Given the description of an element on the screen output the (x, y) to click on. 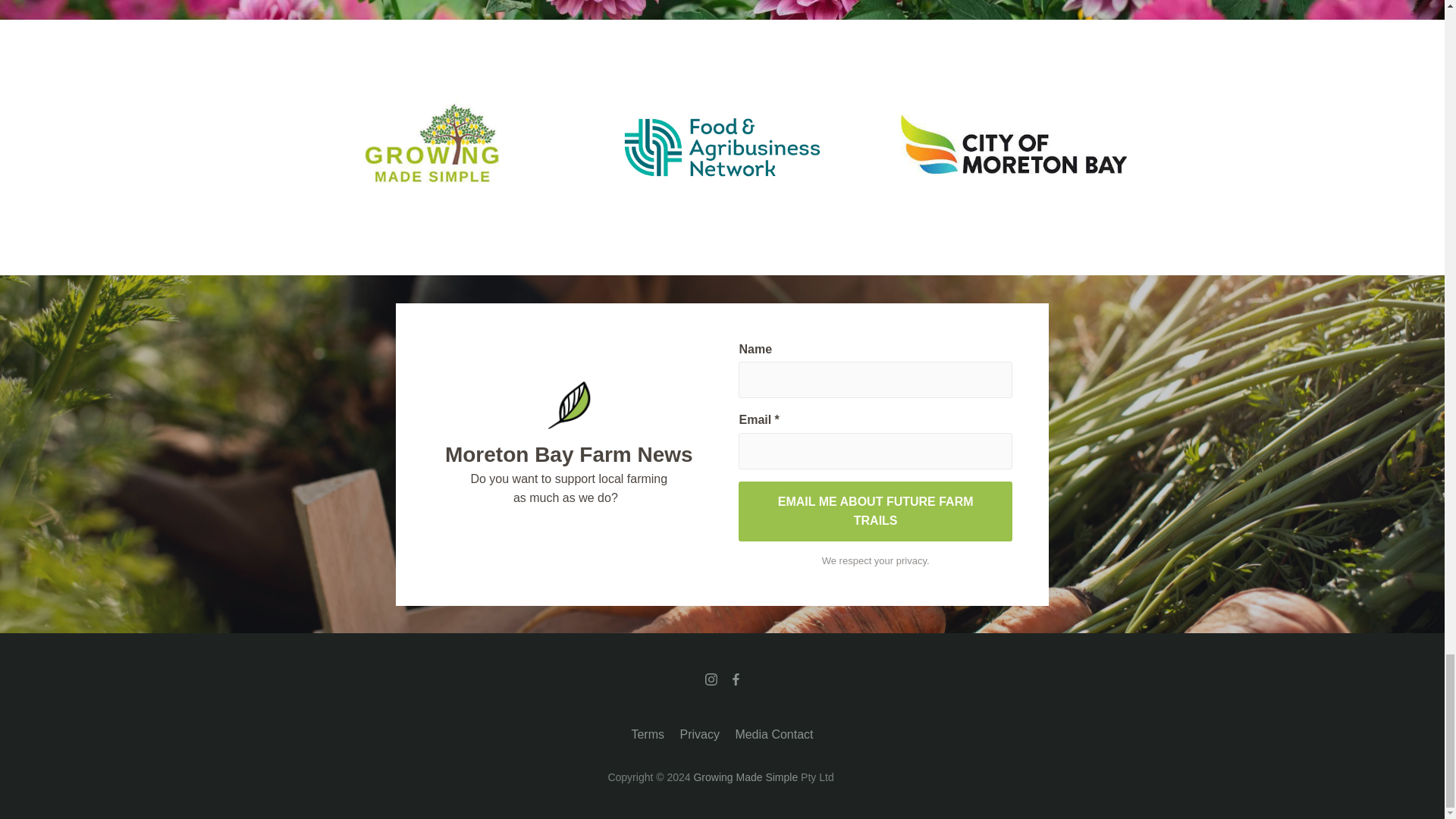
Media Contact (773, 734)
EMAIL ME ABOUT FUTURE FARM TRAILS (874, 511)
Terms (646, 734)
Instagram (710, 678)
Privacy (699, 734)
Growing Made Simple (745, 776)
EMAIL ME ABOUT FUTURE FARM TRAILS (874, 511)
